Given the description of an element on the screen output the (x, y) to click on. 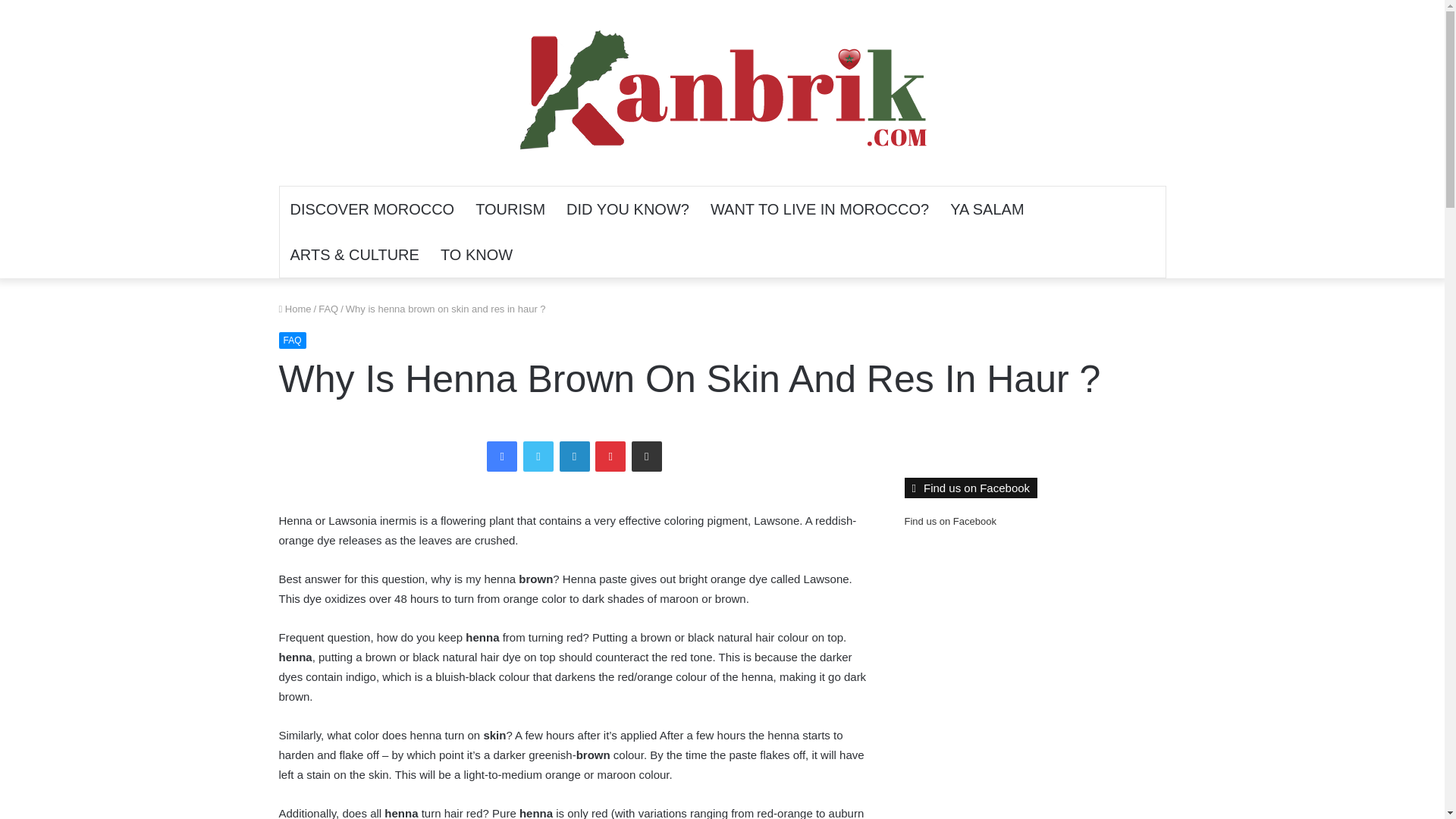
TOURISM (510, 208)
LinkedIn (574, 456)
Share via Email (646, 456)
Twitter (537, 456)
Facebook (501, 456)
WANT TO LIVE IN MOROCCO? (819, 208)
Pinterest (610, 456)
FAQ (327, 308)
DID YOU KNOW? (628, 208)
Facebook (501, 456)
Home (295, 308)
Find us on Facebook (949, 521)
Kanbrik.com (722, 92)
YA SALAM (986, 208)
Pinterest (610, 456)
